Given the description of an element on the screen output the (x, y) to click on. 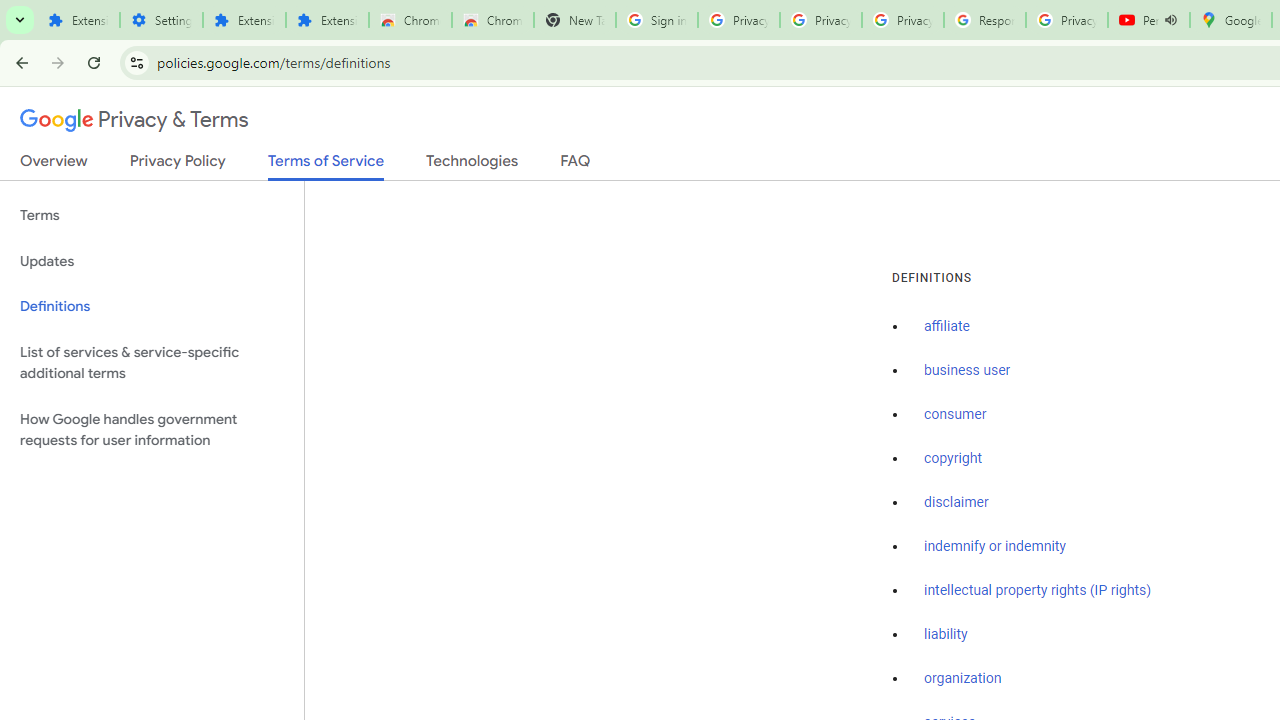
indemnify or indemnity (995, 546)
liability (945, 634)
Chrome Web Store - Themes (492, 20)
intellectual property rights (IP rights) (1038, 590)
Extensions (326, 20)
List of services & service-specific additional terms (152, 362)
business user (967, 371)
Chrome Web Store (409, 20)
